Given the description of an element on the screen output the (x, y) to click on. 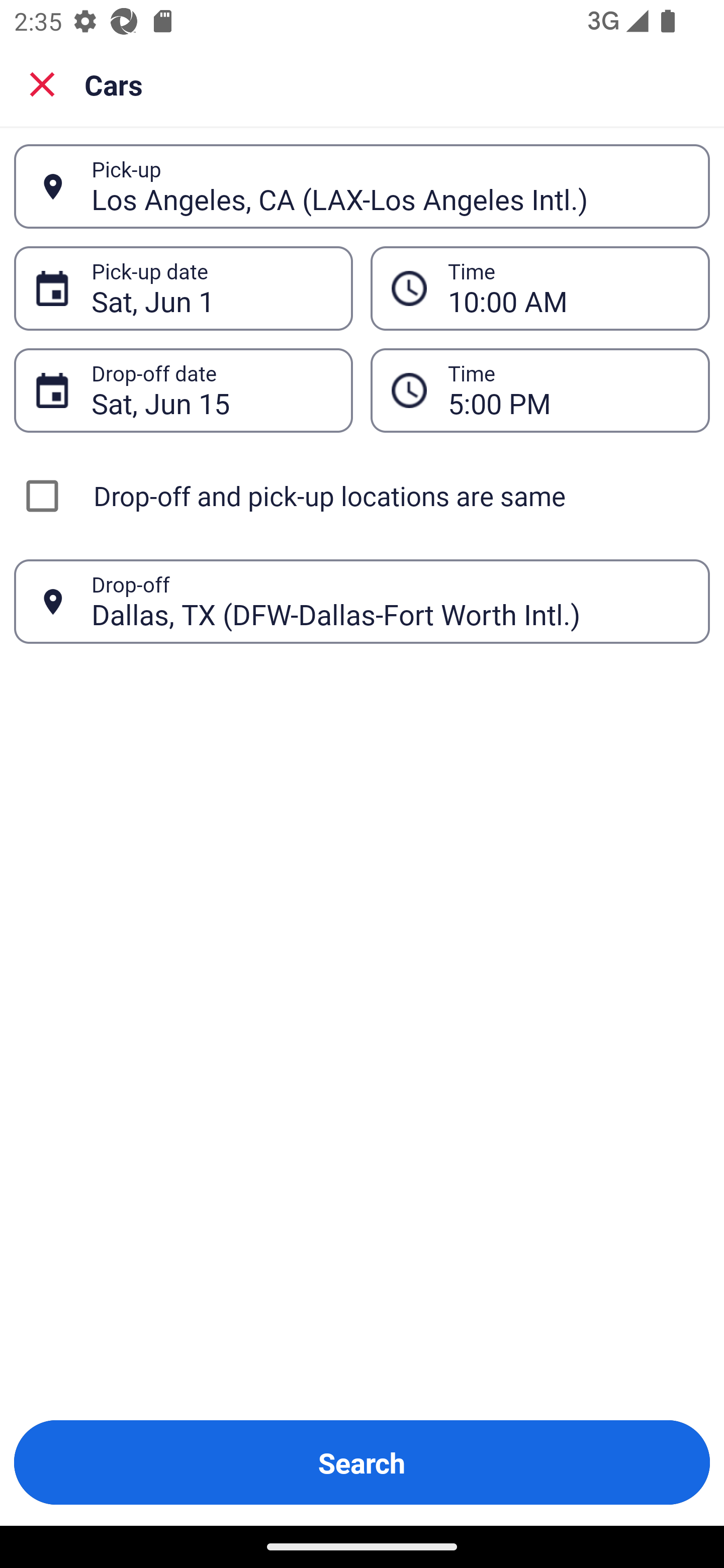
Close search screen (41, 83)
Los Angeles, CA (LAX-Los Angeles Intl.) Pick-up (361, 186)
Los Angeles, CA (LAX-Los Angeles Intl.) (389, 186)
Sat, Jun 1 Pick-up date (183, 288)
10:00 AM (540, 288)
Sat, Jun 1 (211, 288)
10:00 AM (568, 288)
Sat, Jun 15 Drop-off date (183, 390)
5:00 PM (540, 390)
Sat, Jun 15 (211, 390)
5:00 PM (568, 390)
Drop-off and pick-up locations are same (361, 495)
Dallas, TX (DFW-Dallas-Fort Worth Intl.) Drop-off (361, 601)
Dallas, TX (DFW-Dallas-Fort Worth Intl.) (389, 601)
Search Button Search (361, 1462)
